Given the description of an element on the screen output the (x, y) to click on. 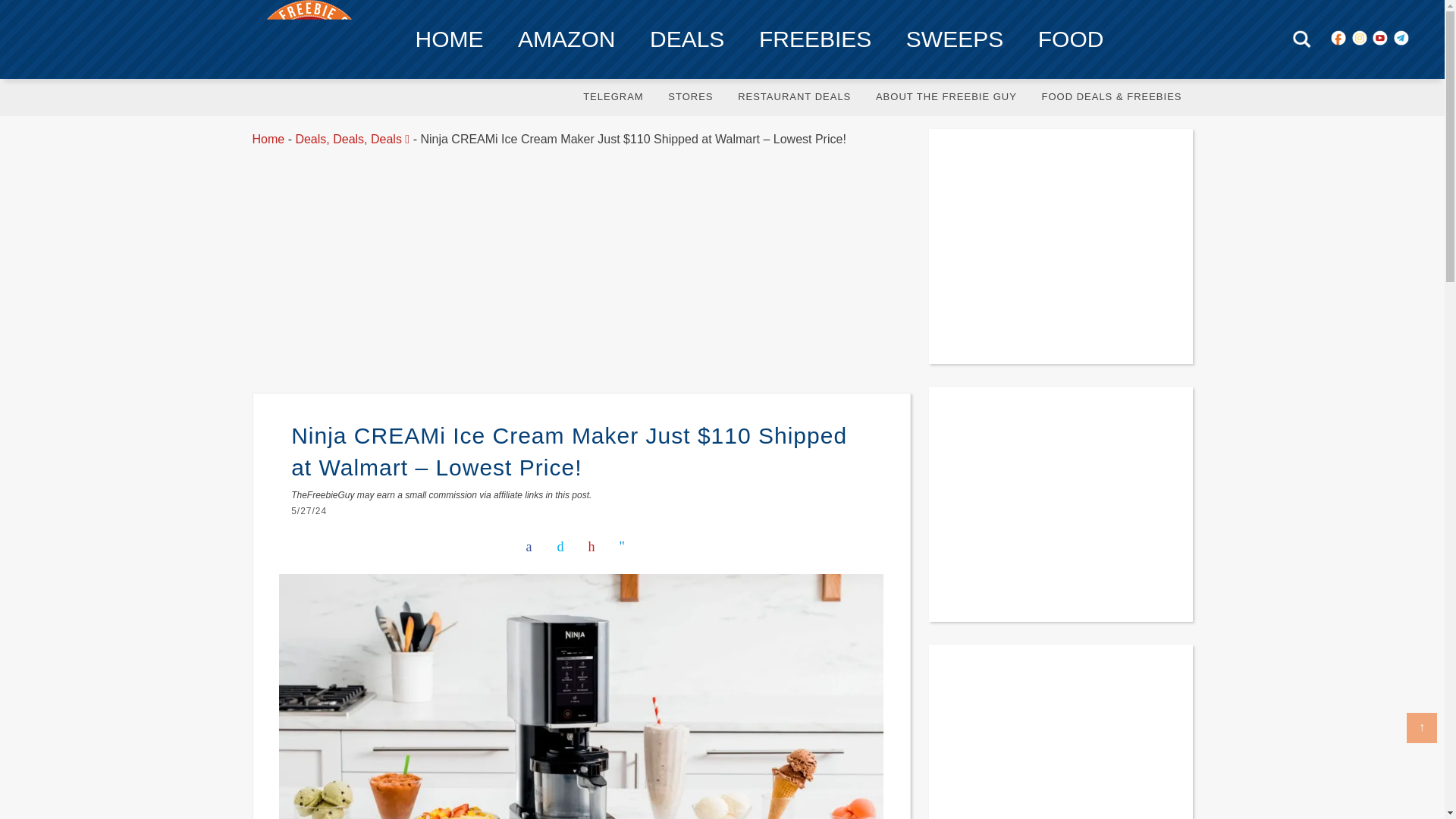
AMAZON (566, 39)
HOME (449, 39)
Rechercher (1300, 38)
DEALS (686, 39)
